Given the description of an element on the screen output the (x, y) to click on. 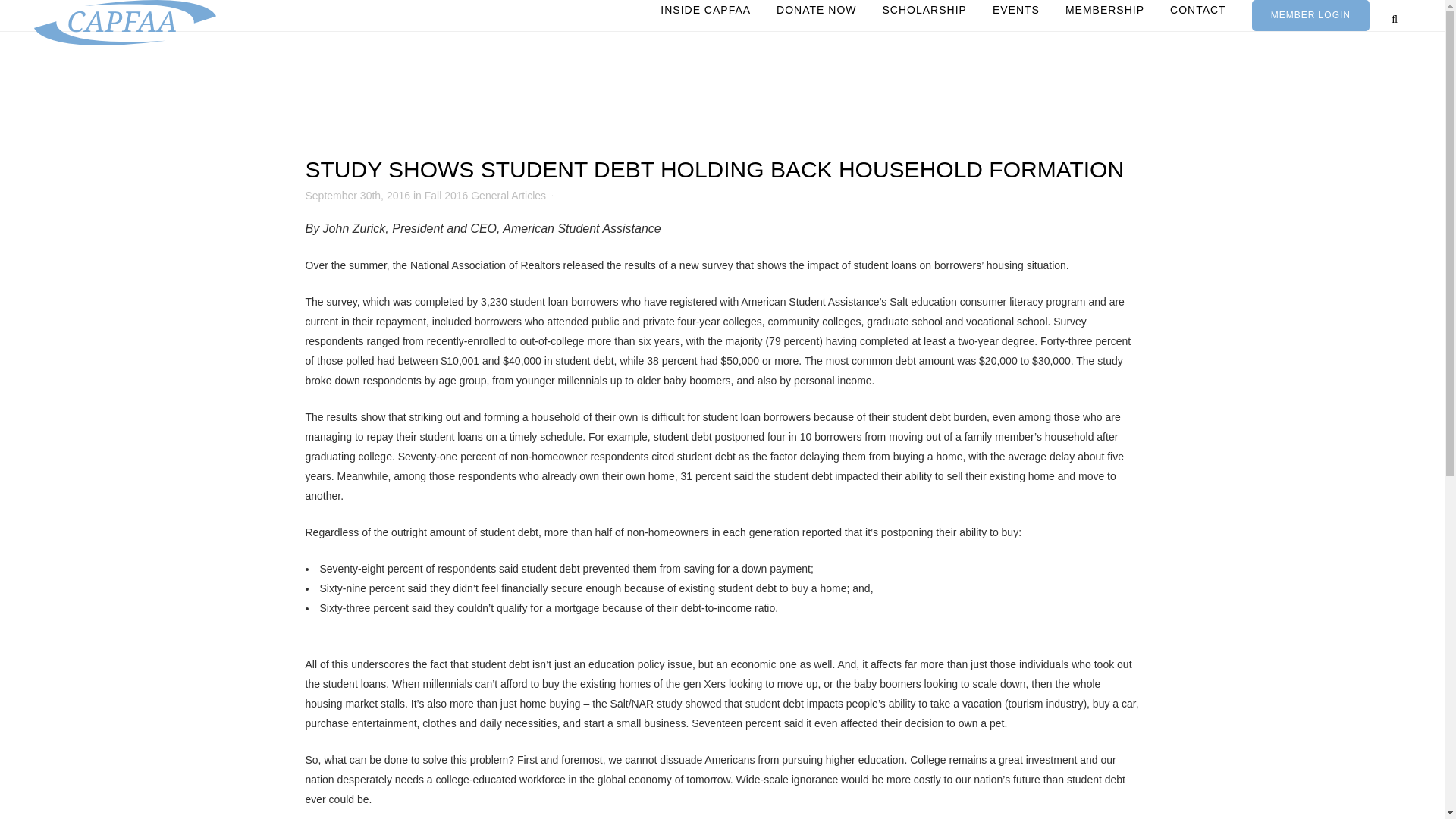
MEMBER LOGIN (1311, 15)
INSIDE CAPFAA (704, 9)
